Given the description of an element on the screen output the (x, y) to click on. 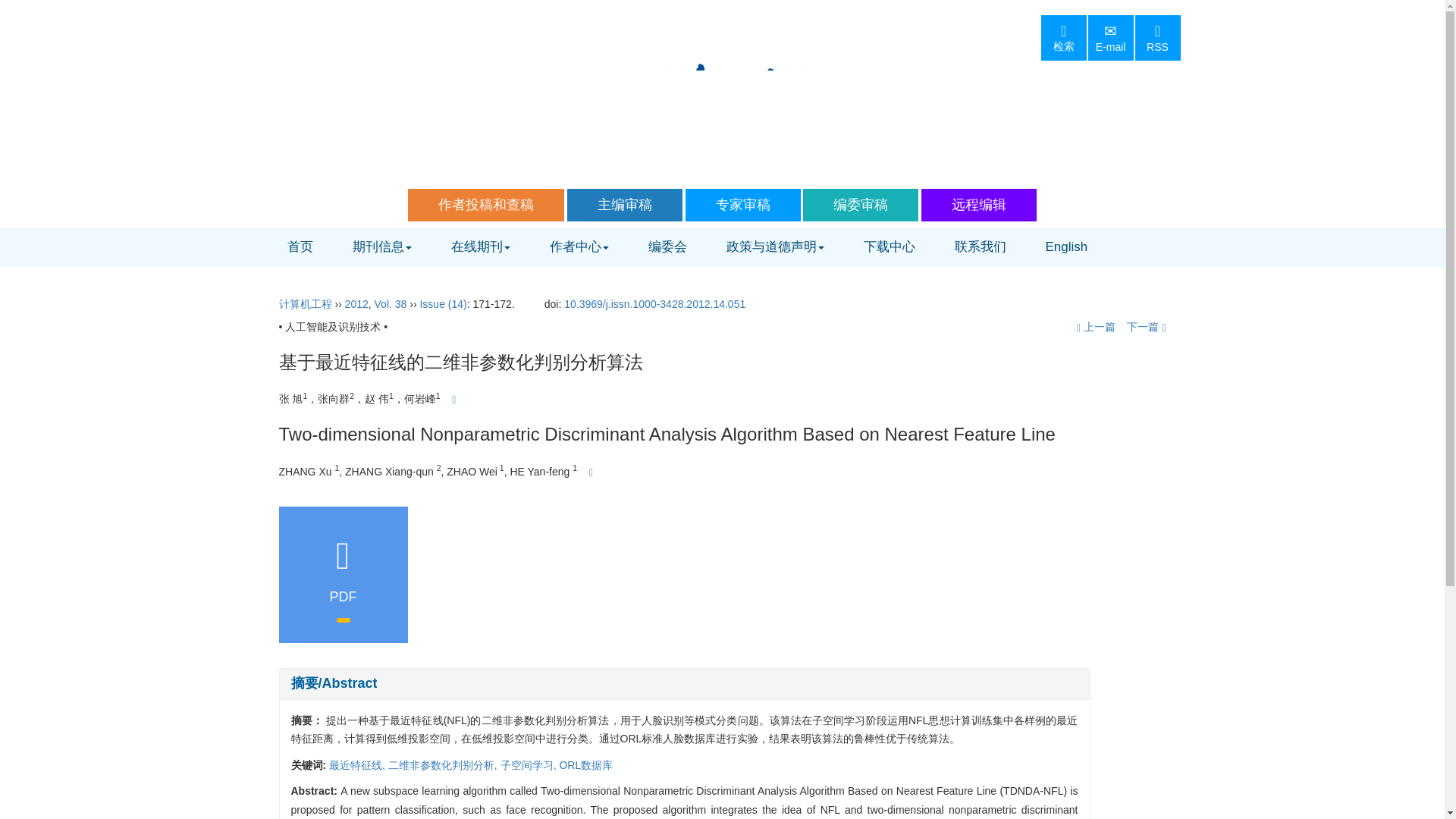
E-mail (1110, 37)
RSS (1156, 37)
